Given the description of an element on the screen output the (x, y) to click on. 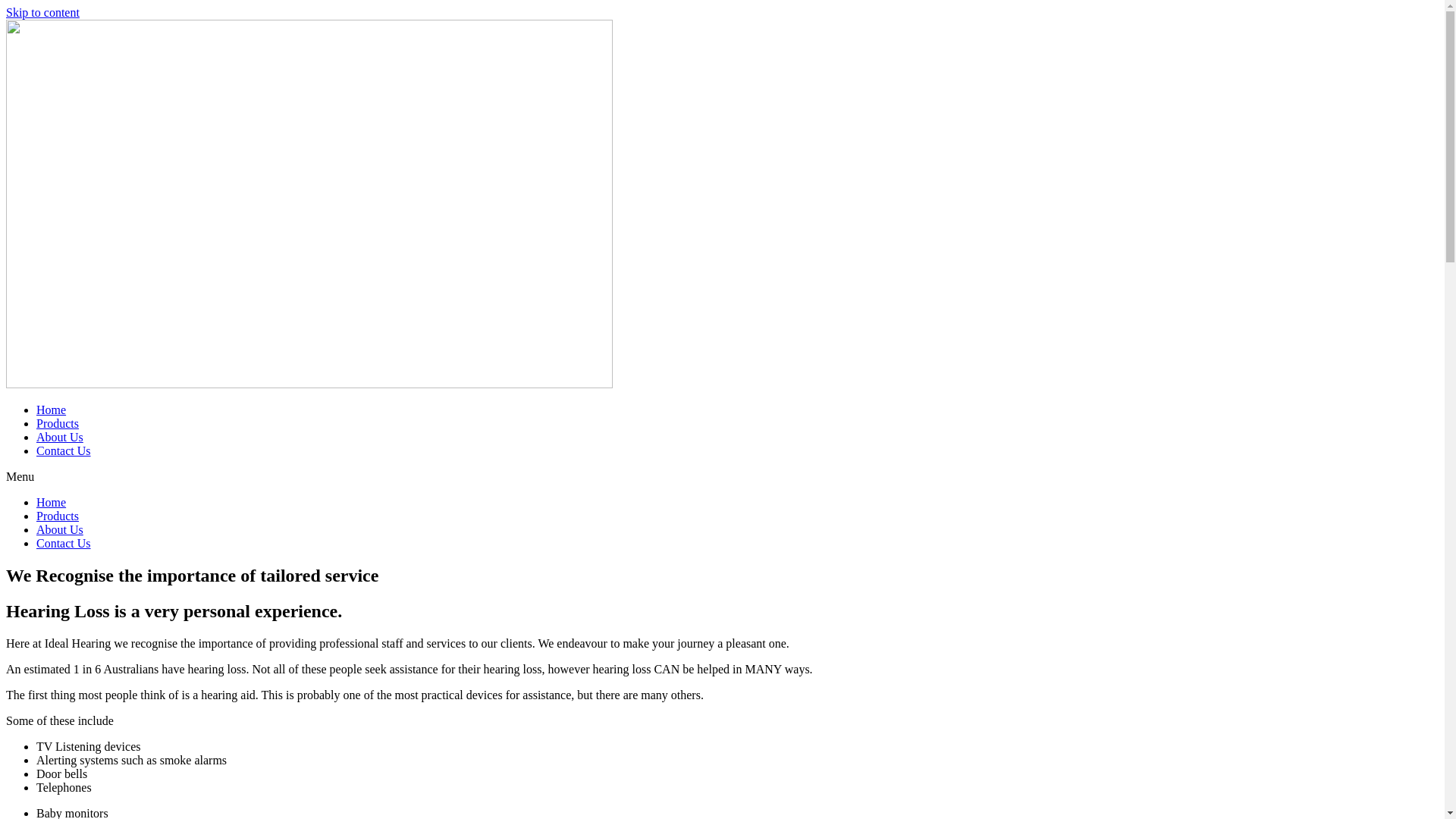
Home Element type: text (50, 501)
Home Element type: text (50, 409)
Products Element type: text (57, 515)
Products Element type: text (57, 423)
Contact Us Element type: text (63, 450)
About Us Element type: text (59, 529)
About Us Element type: text (59, 436)
Contact Us Element type: text (63, 542)
Skip to content Element type: text (42, 12)
